Given the description of an element on the screen output the (x, y) to click on. 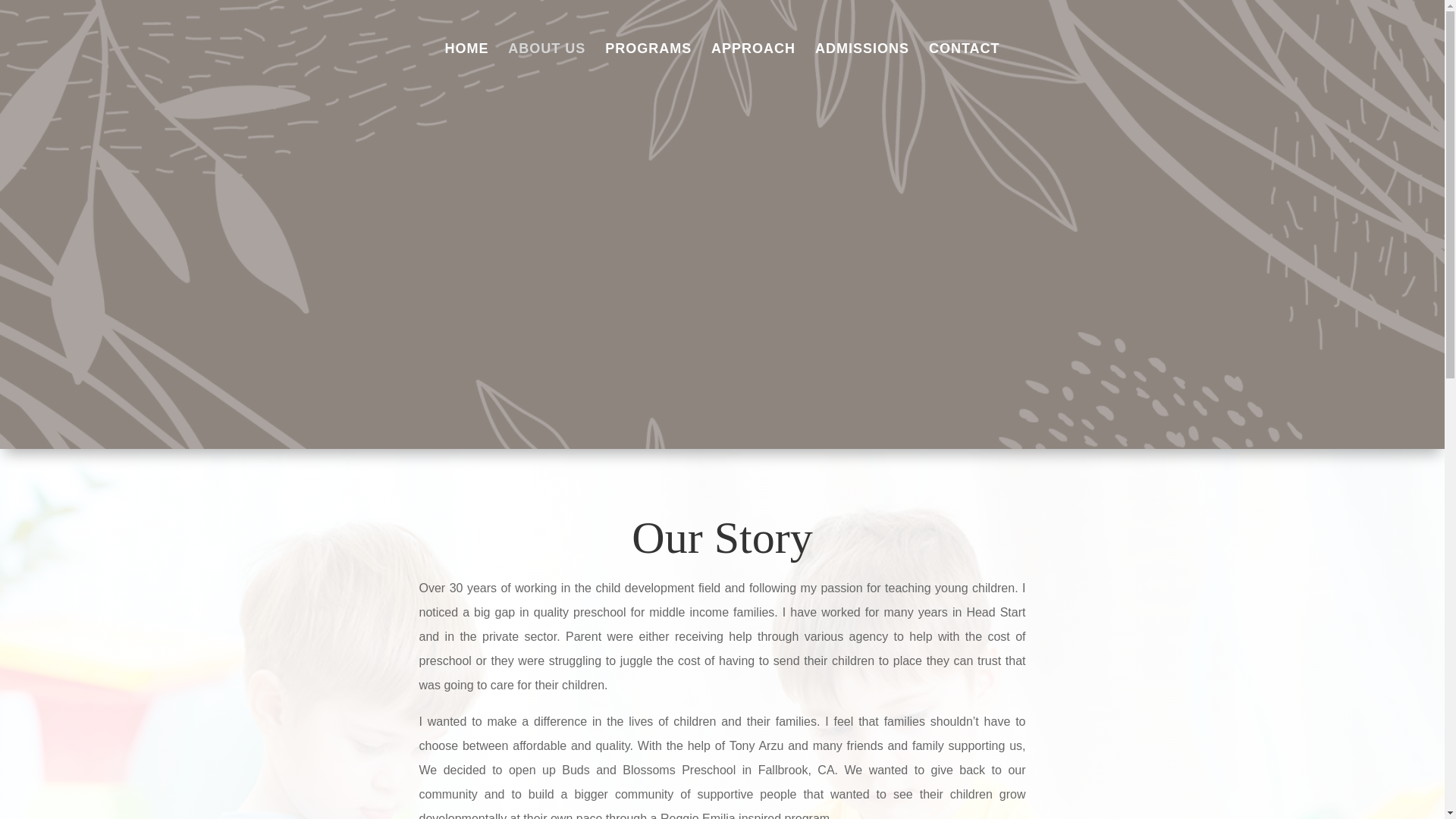
ABOUT US (546, 69)
APPROACH (752, 69)
PROGRAMS (648, 69)
ADMISSIONS (861, 69)
CONTACT (964, 69)
